Given the description of an element on the screen output the (x, y) to click on. 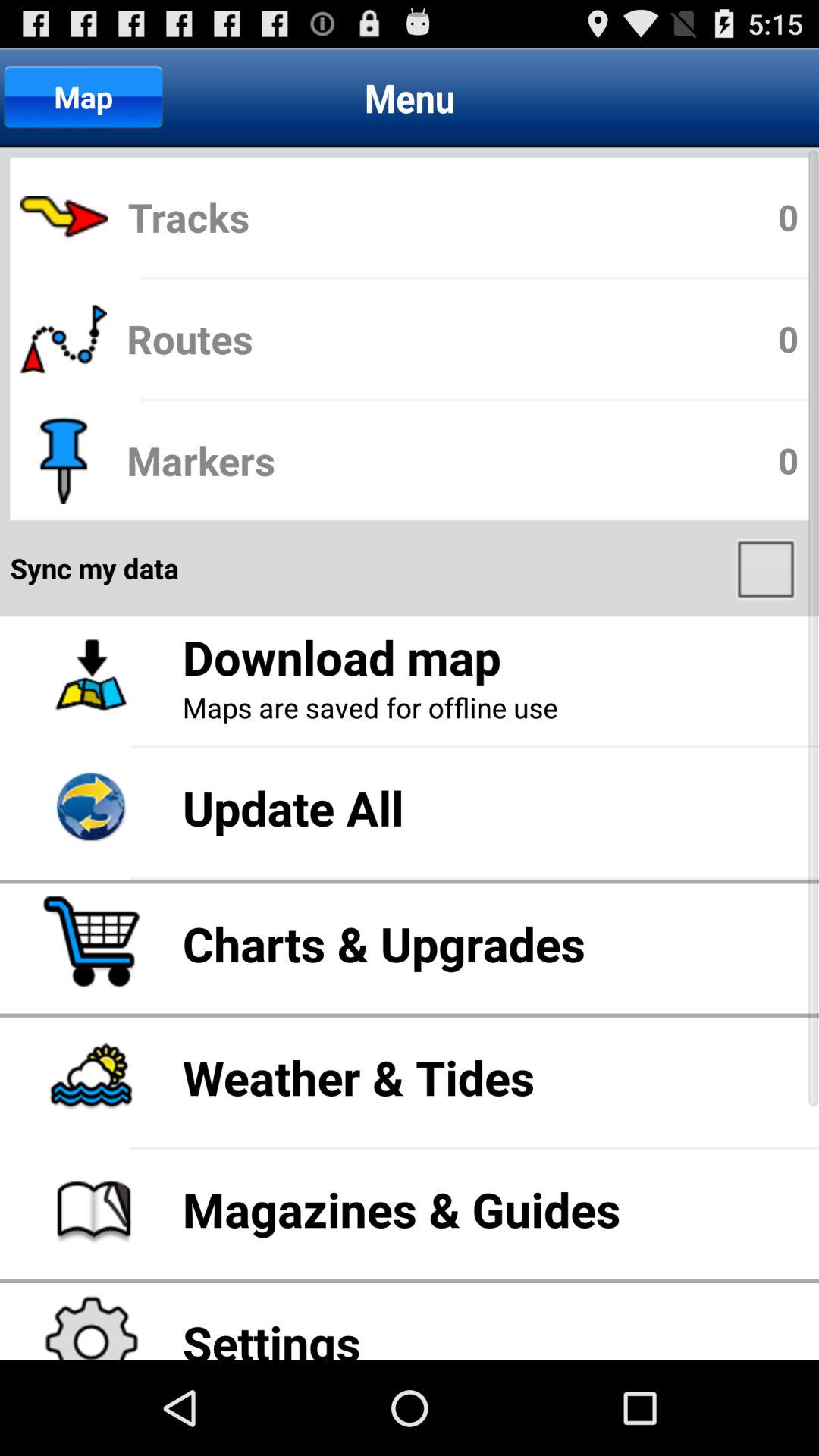
upload data (767, 567)
